Given the description of an element on the screen output the (x, y) to click on. 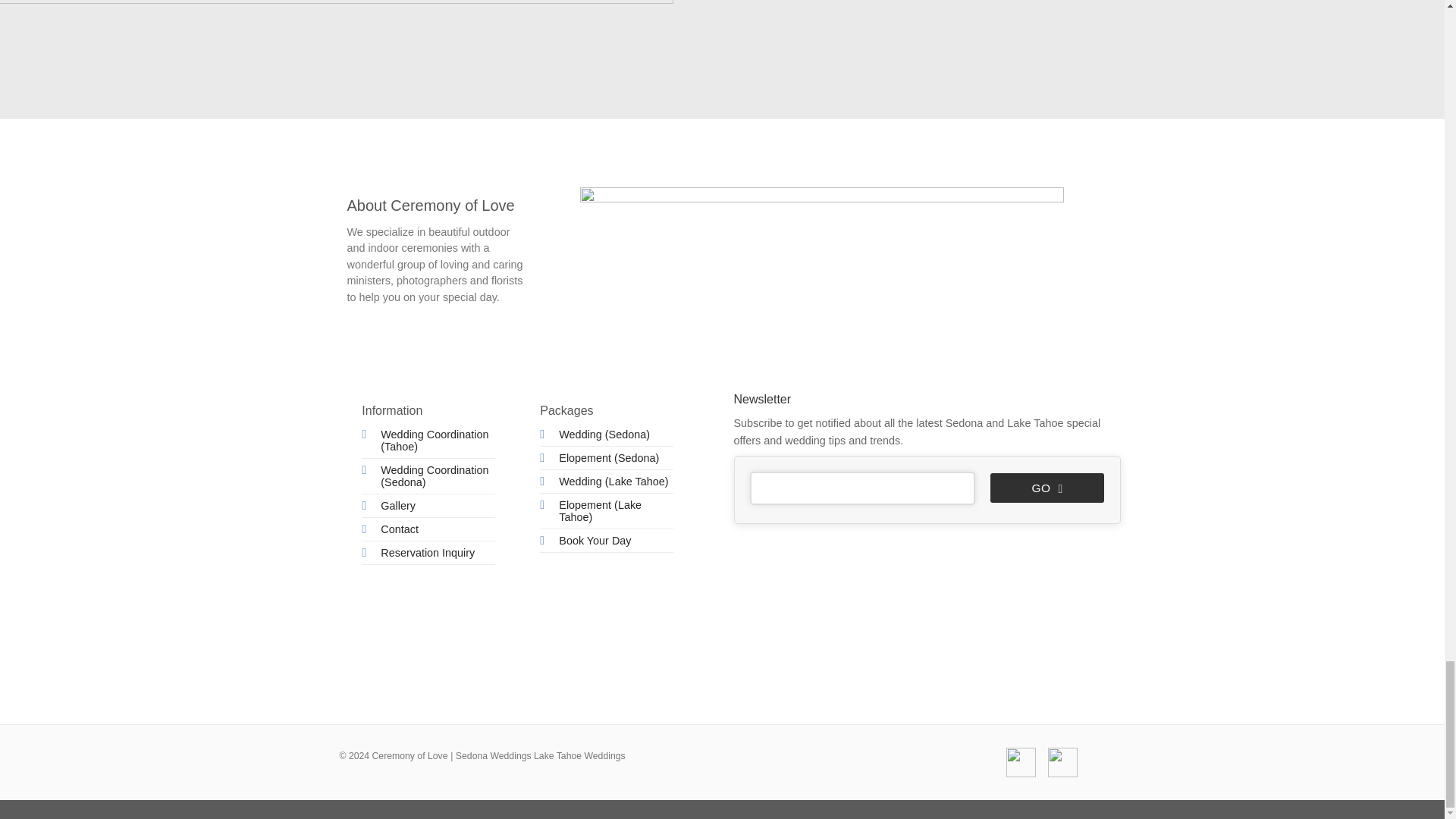
Contact (399, 529)
Gallery (397, 505)
Reservation Inquiry (427, 552)
